Given the description of an element on the screen output the (x, y) to click on. 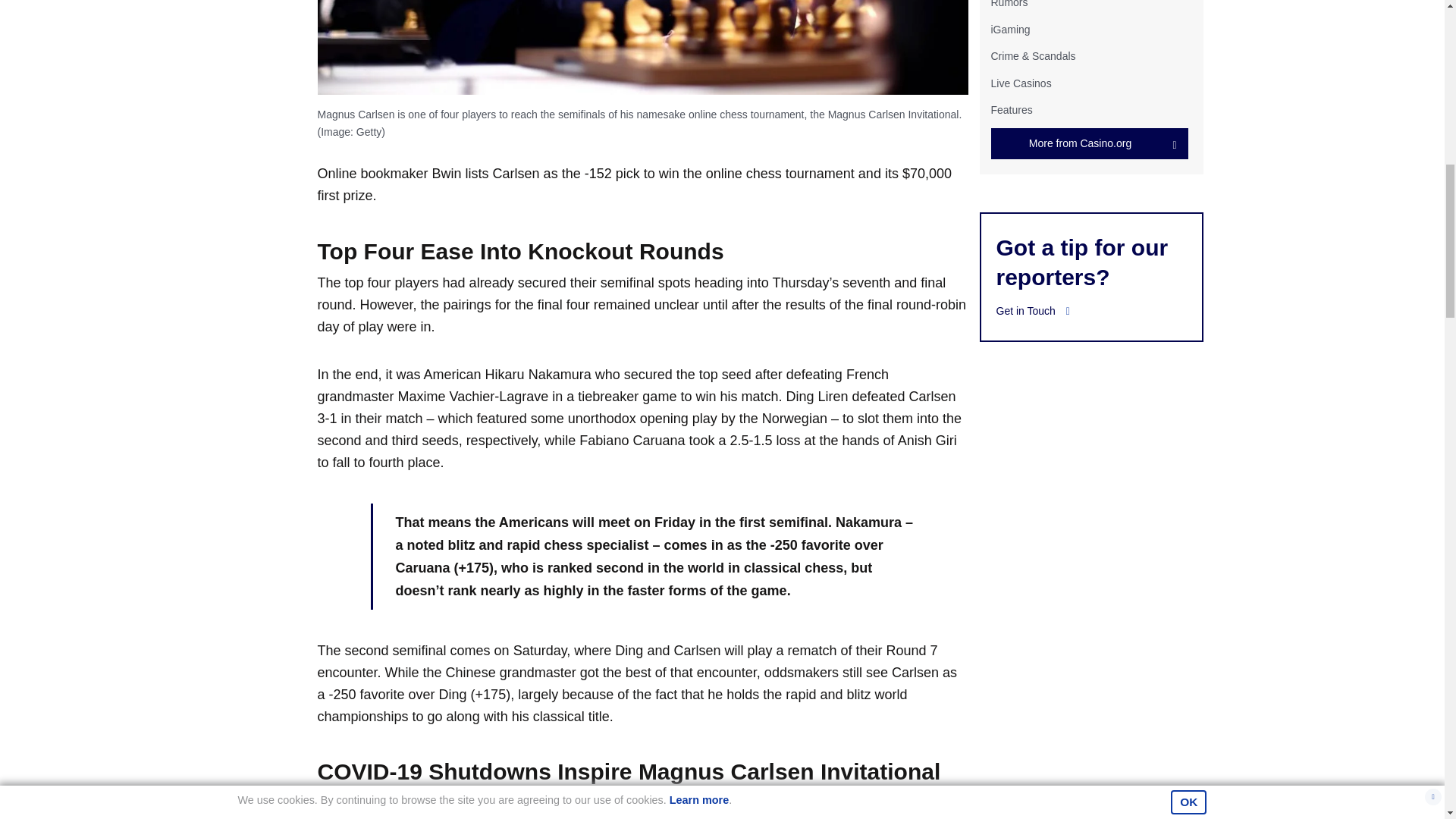
Rumors (1008, 4)
iGaming (1009, 29)
Rumors (1008, 4)
Features (1011, 110)
Live Casinos (1020, 82)
iGaming (1009, 29)
